Given the description of an element on the screen output the (x, y) to click on. 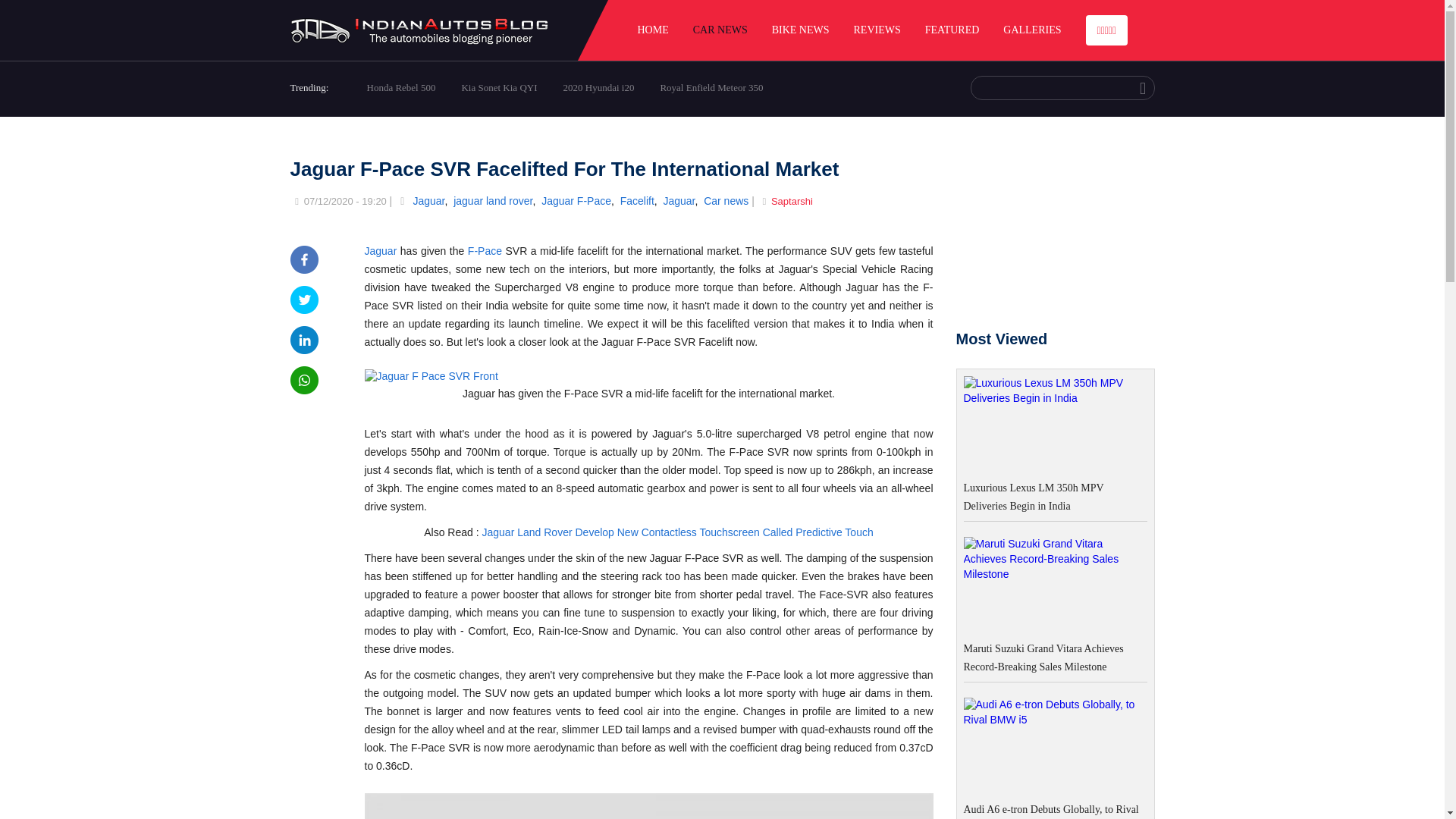
CAR NEWS (720, 30)
CAR NEWS (720, 30)
